Given the description of an element on the screen output the (x, y) to click on. 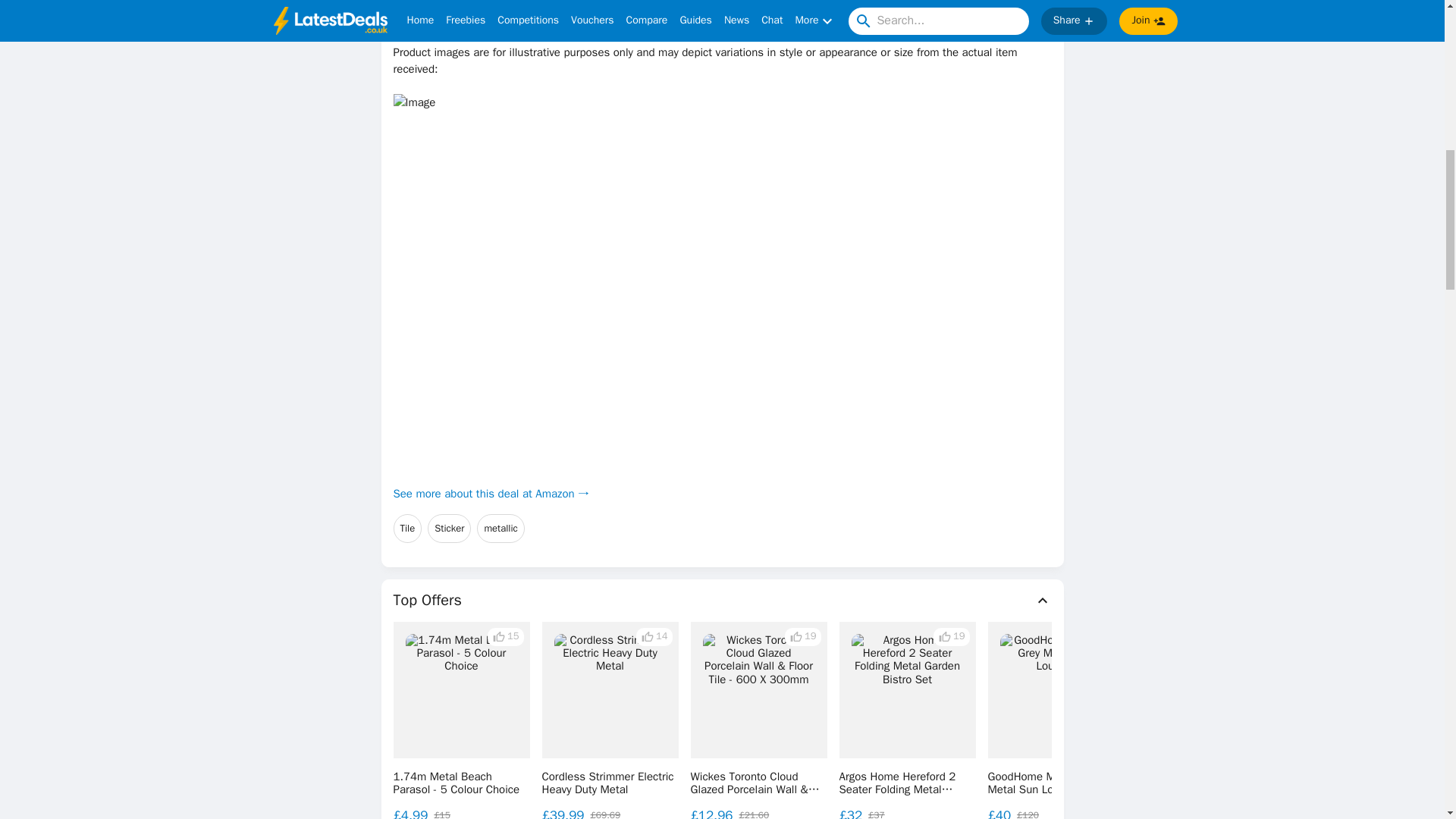
Top Offers (722, 600)
metallic (500, 528)
See more offers (1329, 722)
Sticker (449, 528)
Tile (407, 528)
